Given the description of an element on the screen output the (x, y) to click on. 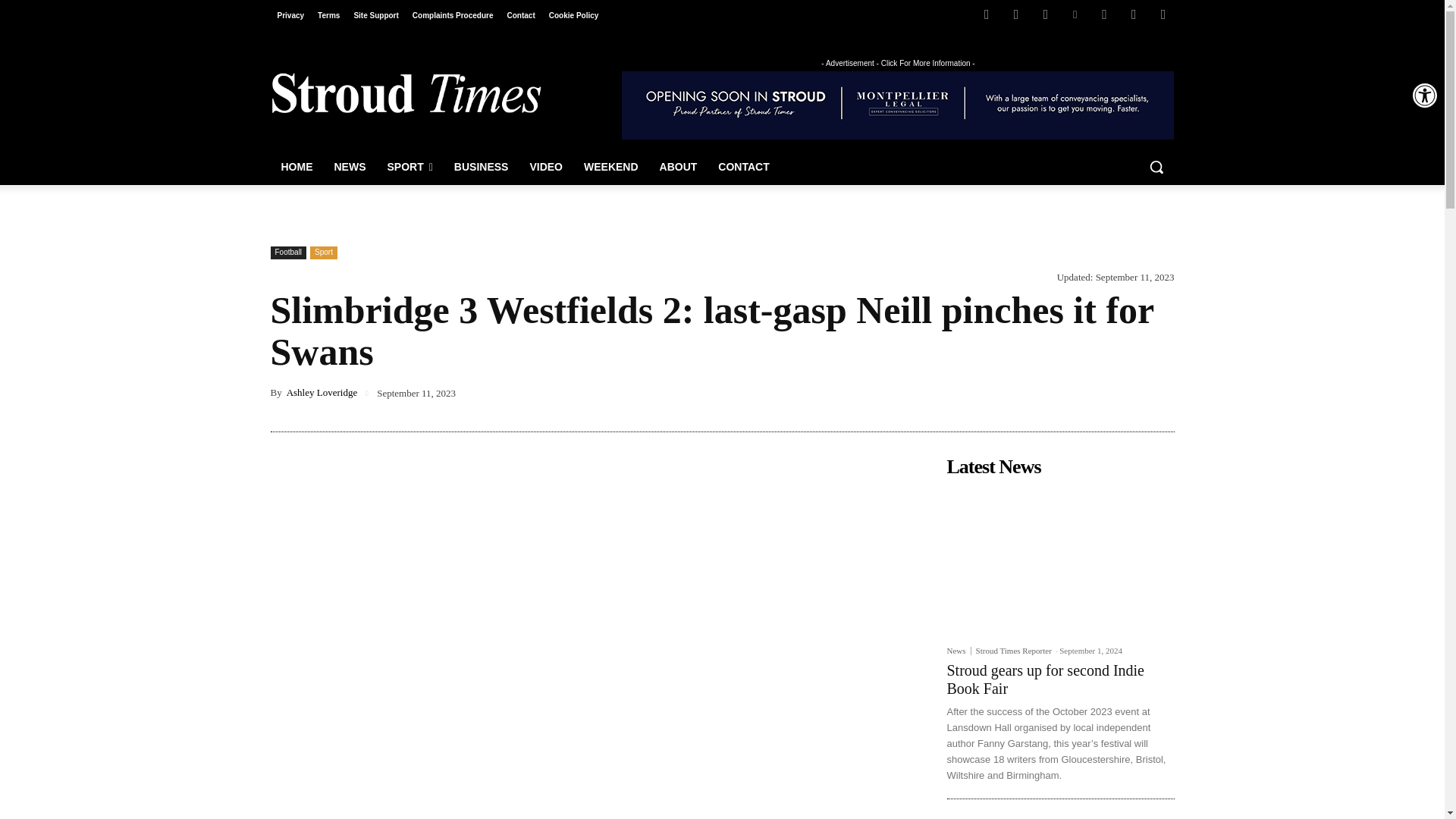
Contact (520, 15)
Accessibility Tools (1424, 95)
HOME (296, 166)
SPORT (408, 166)
Facebook (986, 14)
Cookie Policy (573, 15)
Site Support (375, 15)
BUSINESS (481, 166)
Flipboard (1016, 14)
Privacy (290, 15)
